Given the description of an element on the screen output the (x, y) to click on. 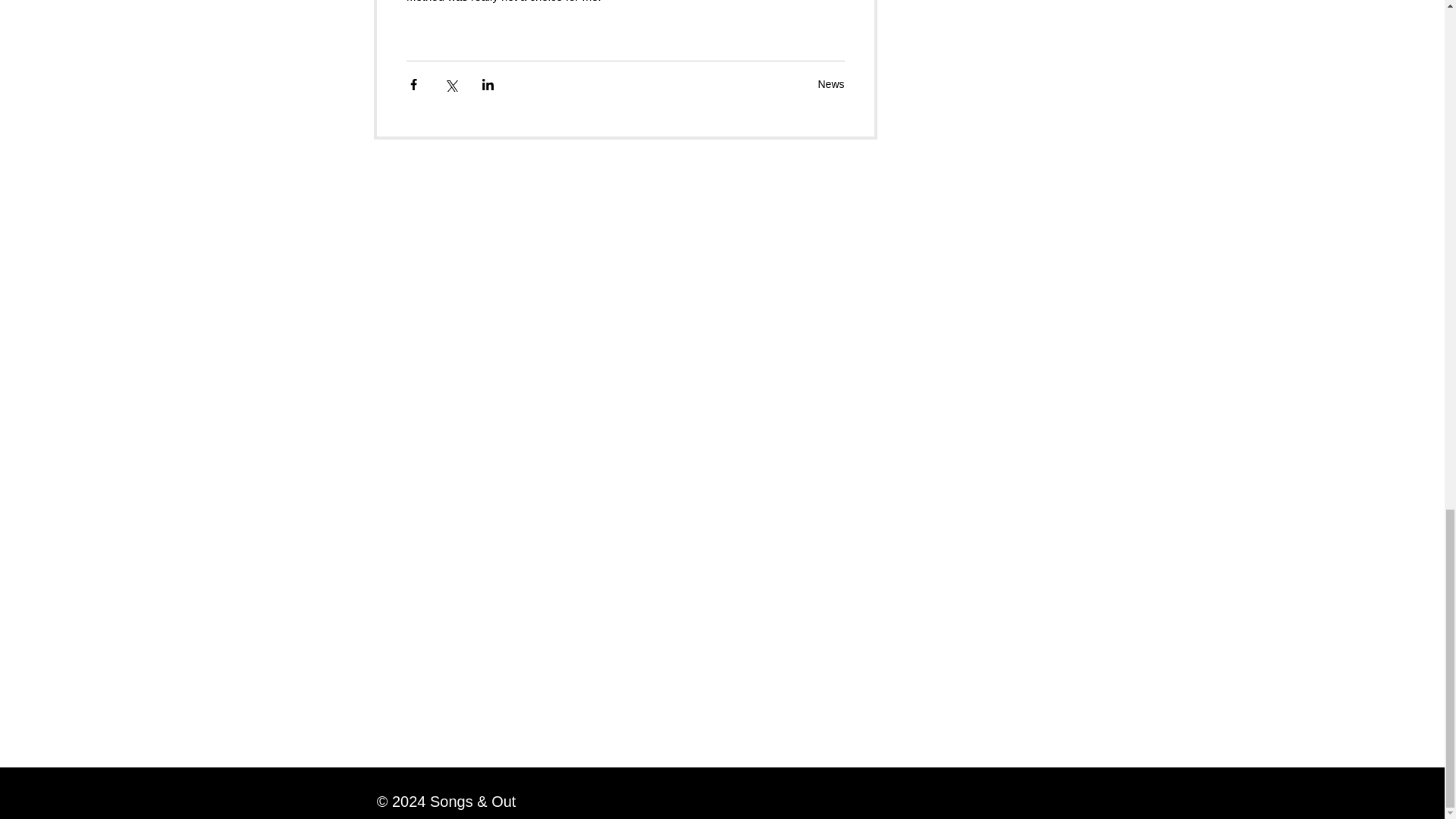
News (830, 83)
